Given the description of an element on the screen output the (x, y) to click on. 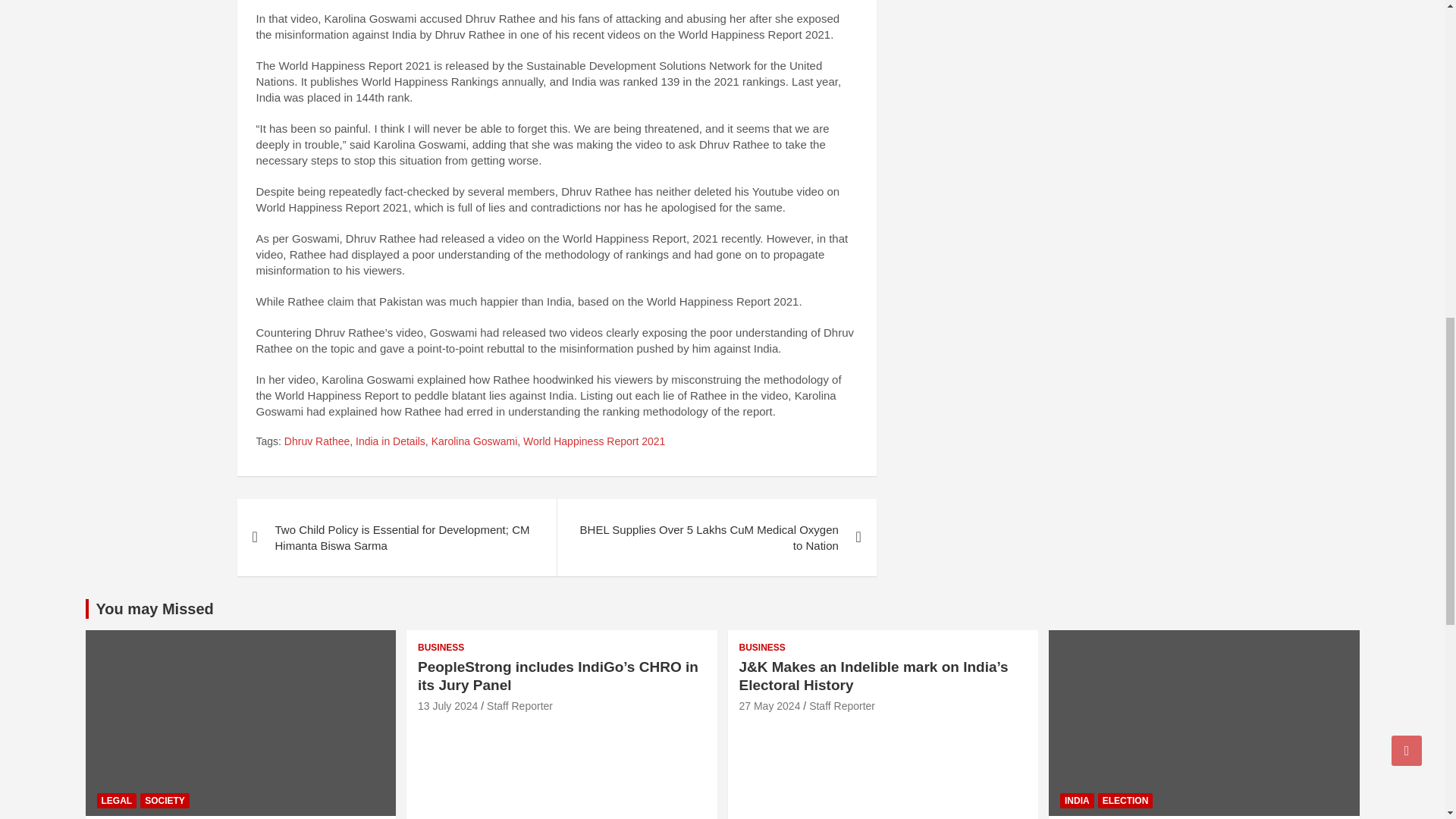
World Happiness Report 2021 (593, 441)
Karolina Goswami (474, 441)
India in Details (390, 441)
Dhruv Rathee (316, 441)
BHEL Supplies Over 5 Lakhs CuM Medical Oxygen to Nation (716, 537)
